Given the description of an element on the screen output the (x, y) to click on. 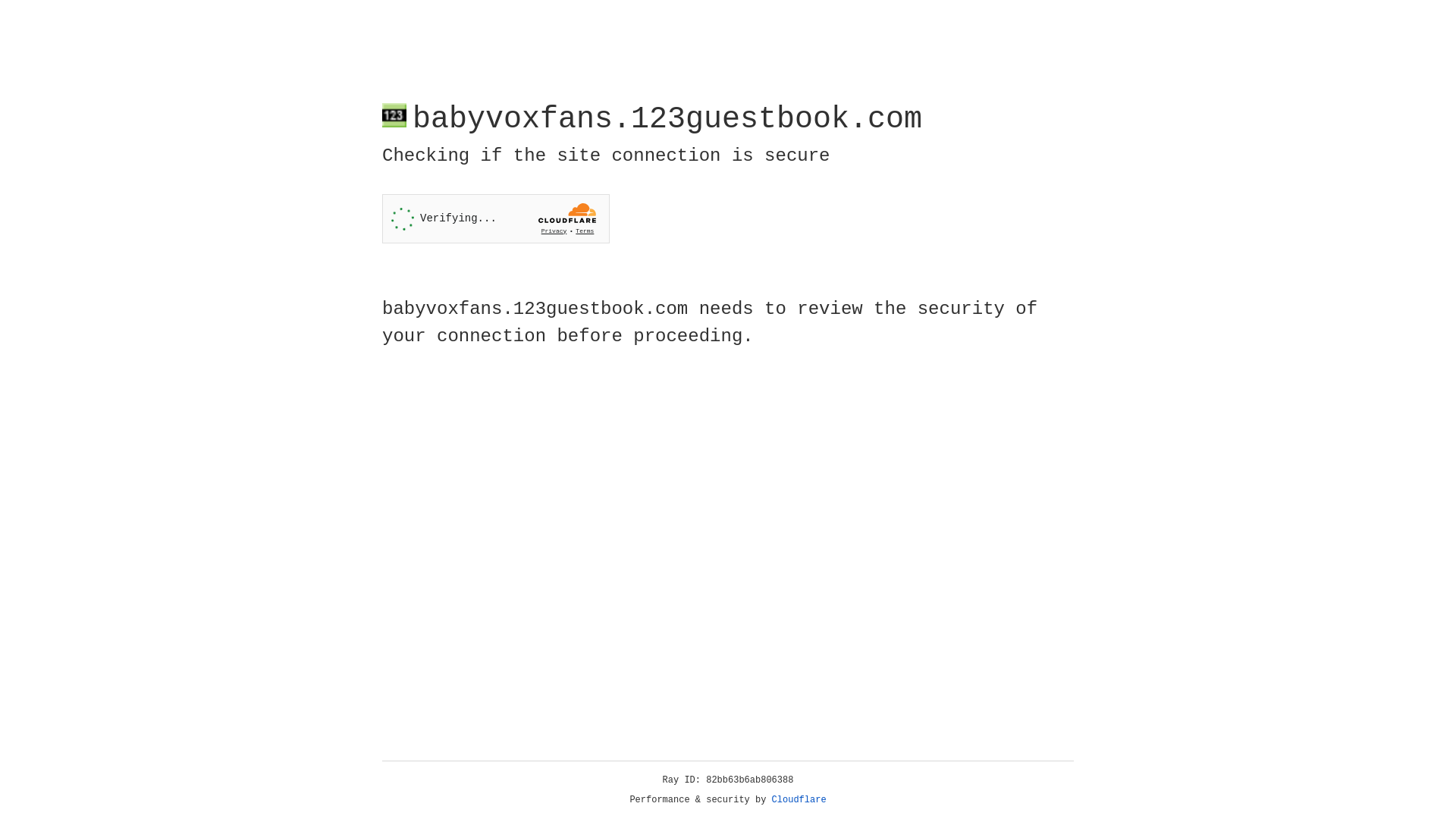
Cloudflare Element type: text (798, 799)
Widget containing a Cloudflare security challenge Element type: hover (495, 218)
